Given the description of an element on the screen output the (x, y) to click on. 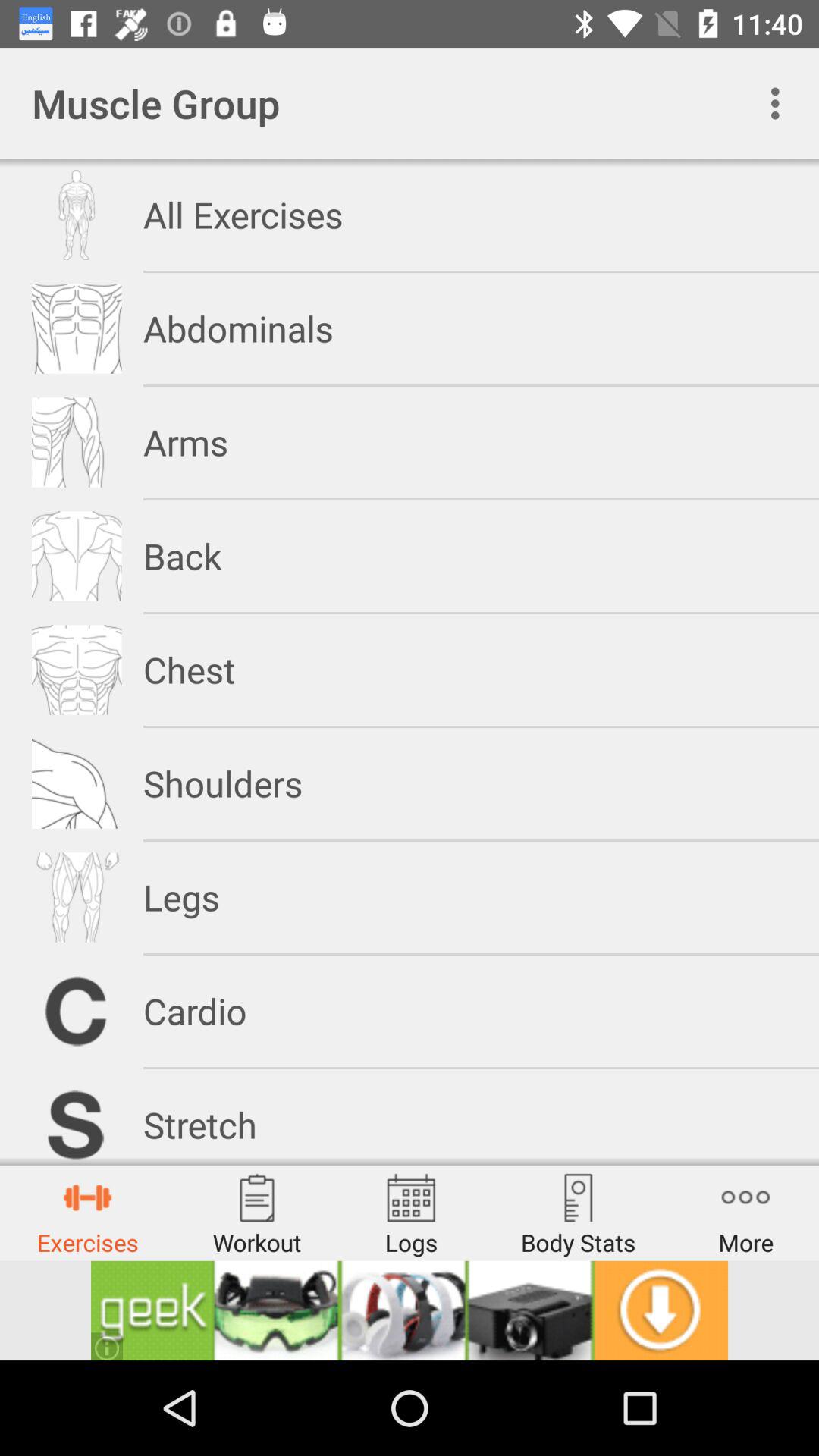
advertisement banner (409, 1310)
